Given the description of an element on the screen output the (x, y) to click on. 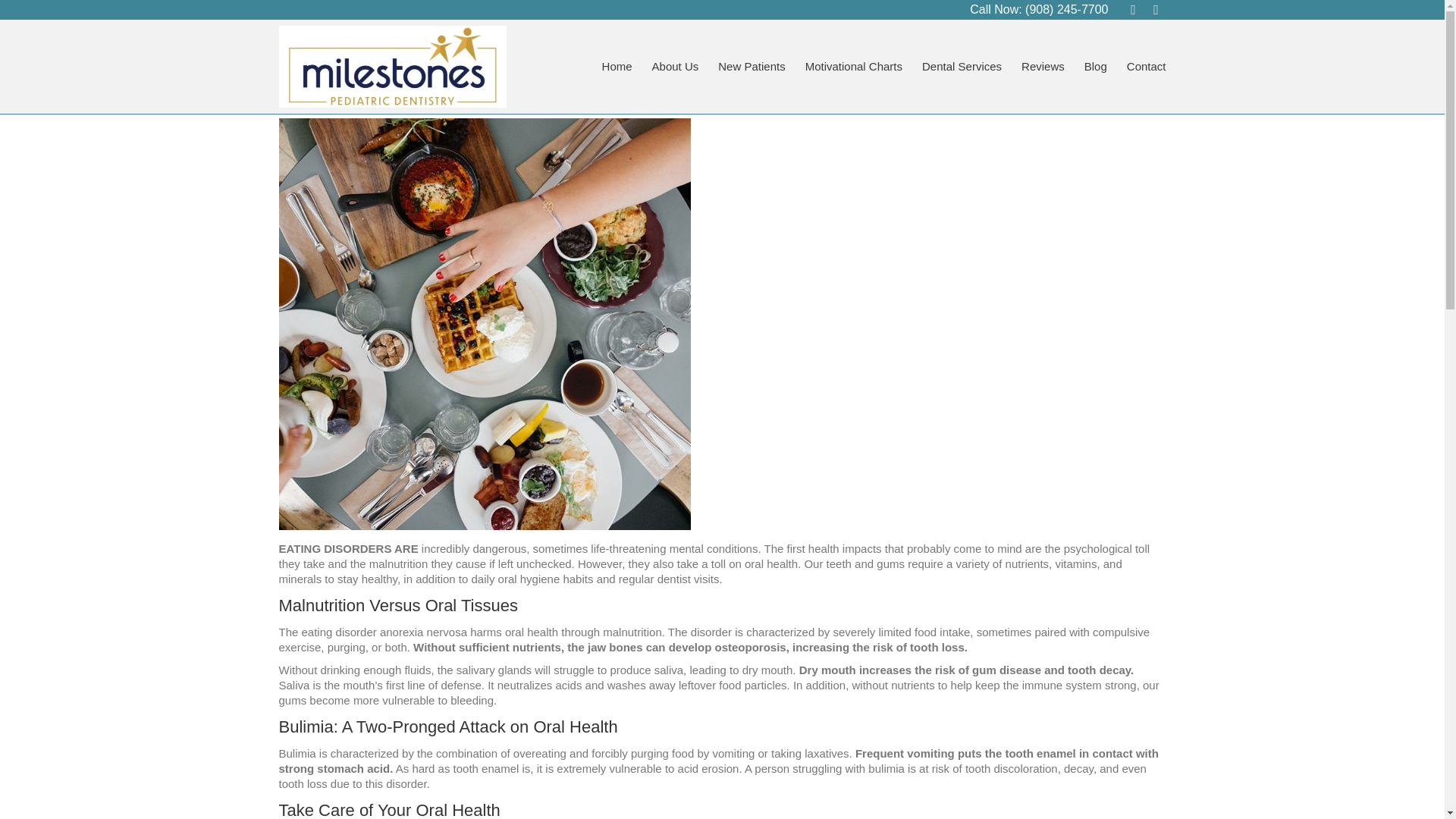
Facebook page opens in new window (1133, 9)
Home (616, 66)
Dental Services (961, 66)
Instagram page opens in new window (1156, 9)
Reviews (1043, 66)
Contact (1146, 66)
Motivational Charts (853, 66)
Instagram page opens in new window (1156, 9)
Facebook page opens in new window (1133, 9)
New Patients (750, 66)
About Us (675, 66)
Blog (1095, 66)
